Given the description of an element on the screen output the (x, y) to click on. 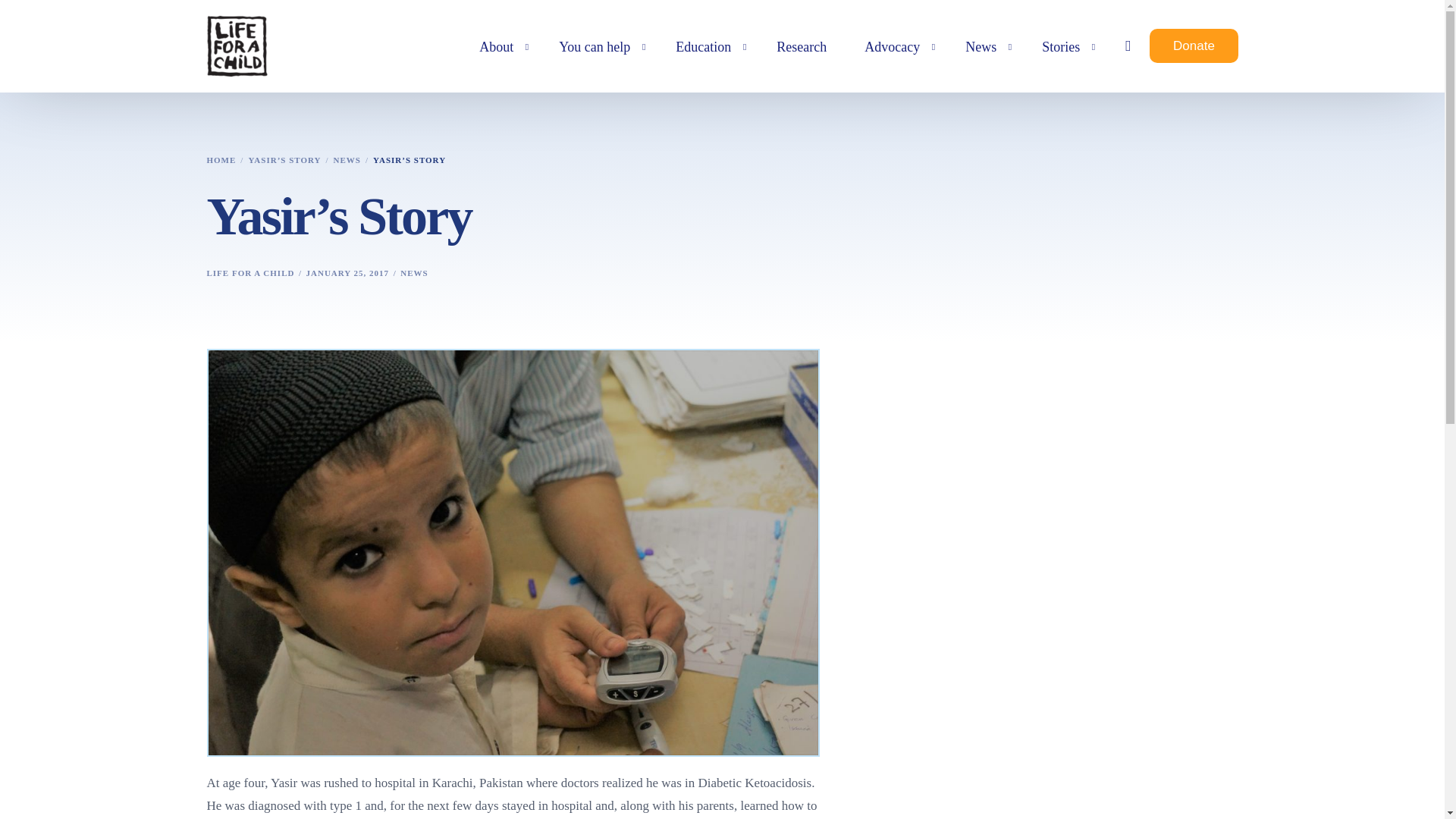
Education (706, 50)
Advocacy (895, 46)
Stories (1064, 46)
You can help (598, 61)
Research (801, 46)
